Given the description of an element on the screen output the (x, y) to click on. 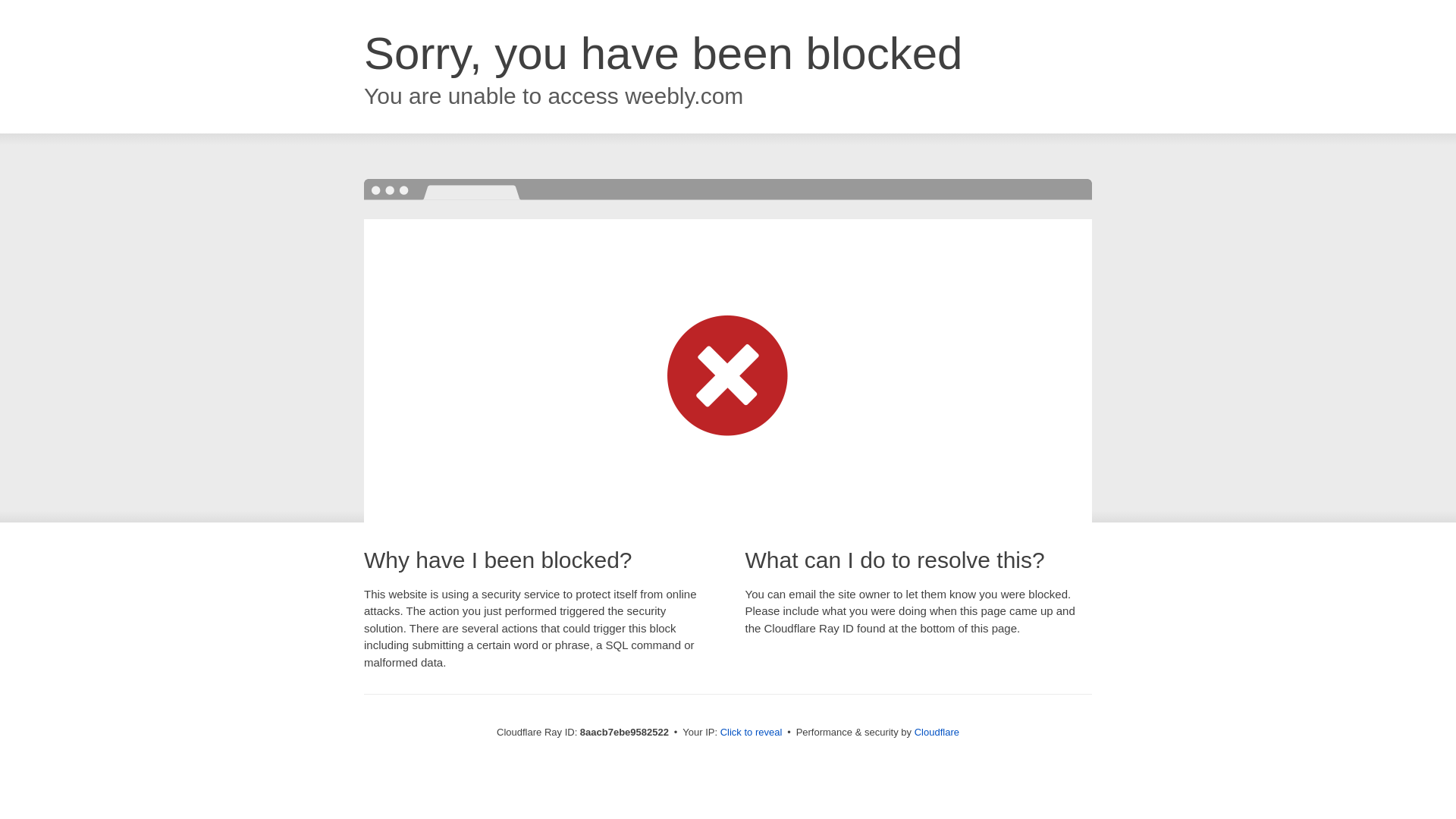
Cloudflare (936, 731)
Click to reveal (751, 732)
